Given the description of an element on the screen output the (x, y) to click on. 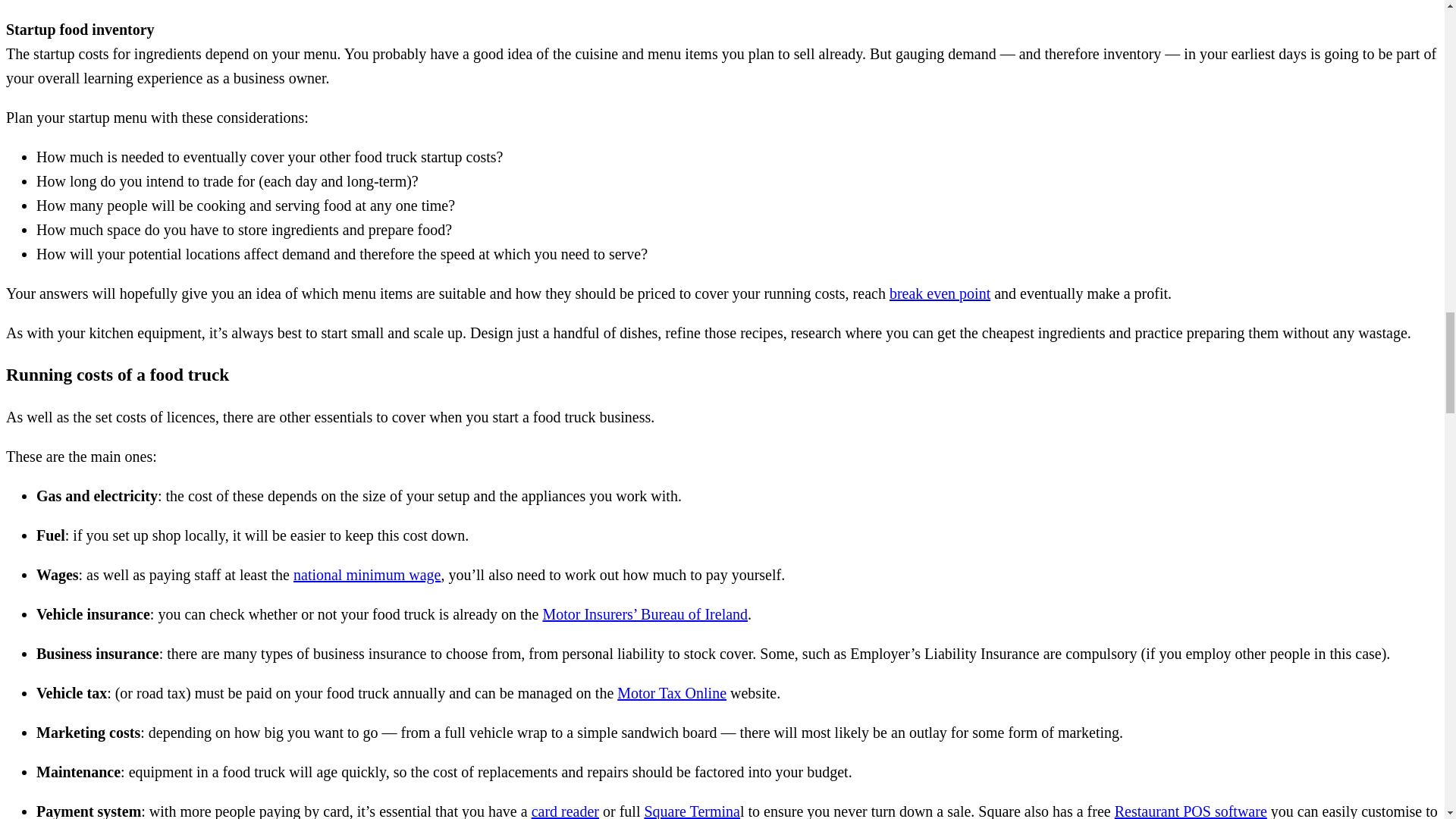
Square Termina (691, 811)
Restaurant POS software (1190, 811)
national minimum wage (367, 574)
card reader (564, 811)
Motor Tax Online (671, 692)
break even point (939, 293)
